Given the description of an element on the screen output the (x, y) to click on. 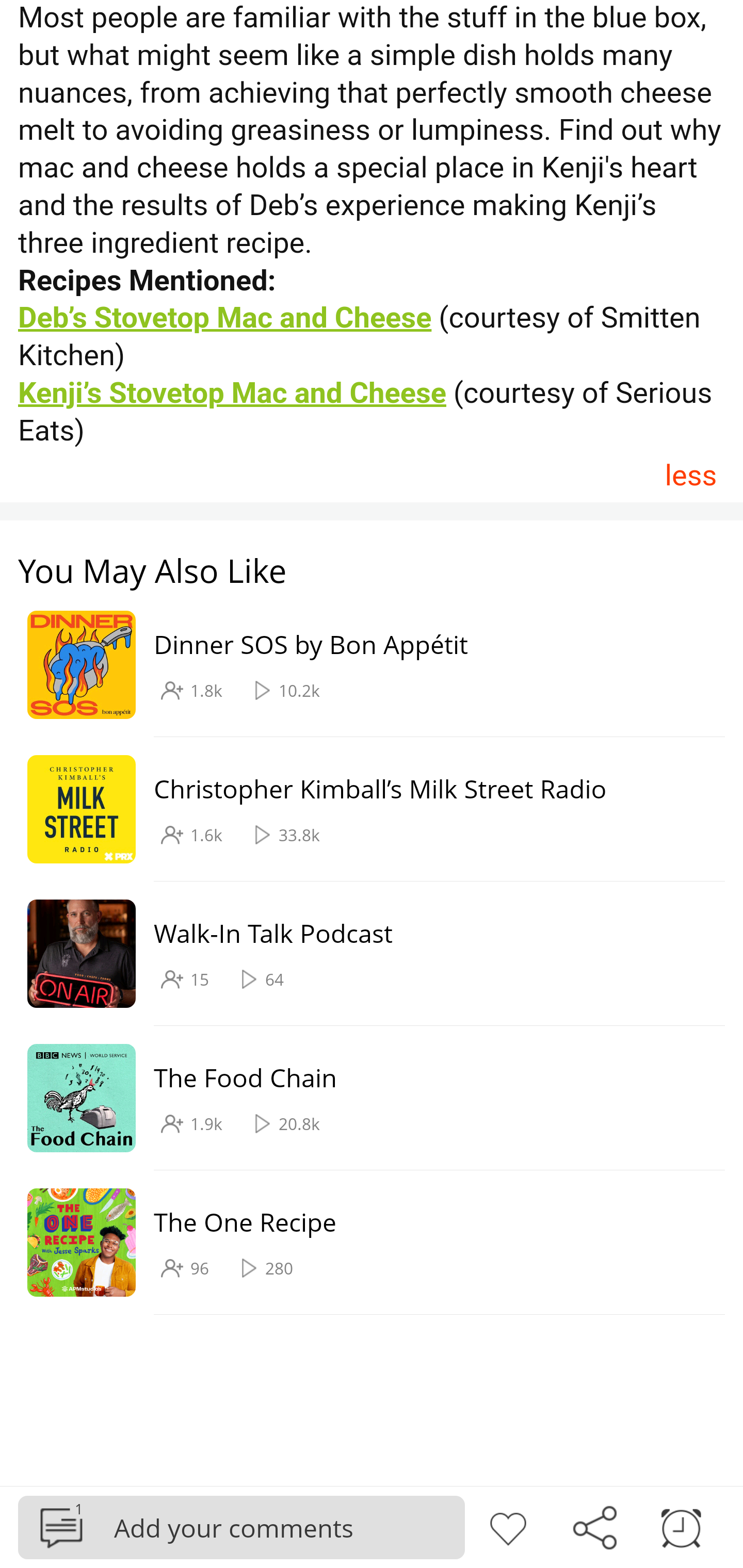
Deb’s Stovetop Mac and Cheese (225, 317)
Kenji’s Stovetop Mac and Cheese (232, 392)
less (690, 474)
Dinner SOS by Bon Appétit 1.8k 10.2k (362, 664)
Christopher Kimball’s Milk Street Radio 1.6k 33.8k (362, 808)
Walk-In Talk Podcast 15 64 (362, 953)
The Food Chain 1.9k 20.8k (362, 1097)
The One Recipe 96 280 (362, 1241)
Like (508, 1526)
Share (594, 1526)
Sleep timer (681, 1526)
Podbean 1 Add your comments (241, 1526)
